Given the description of an element on the screen output the (x, y) to click on. 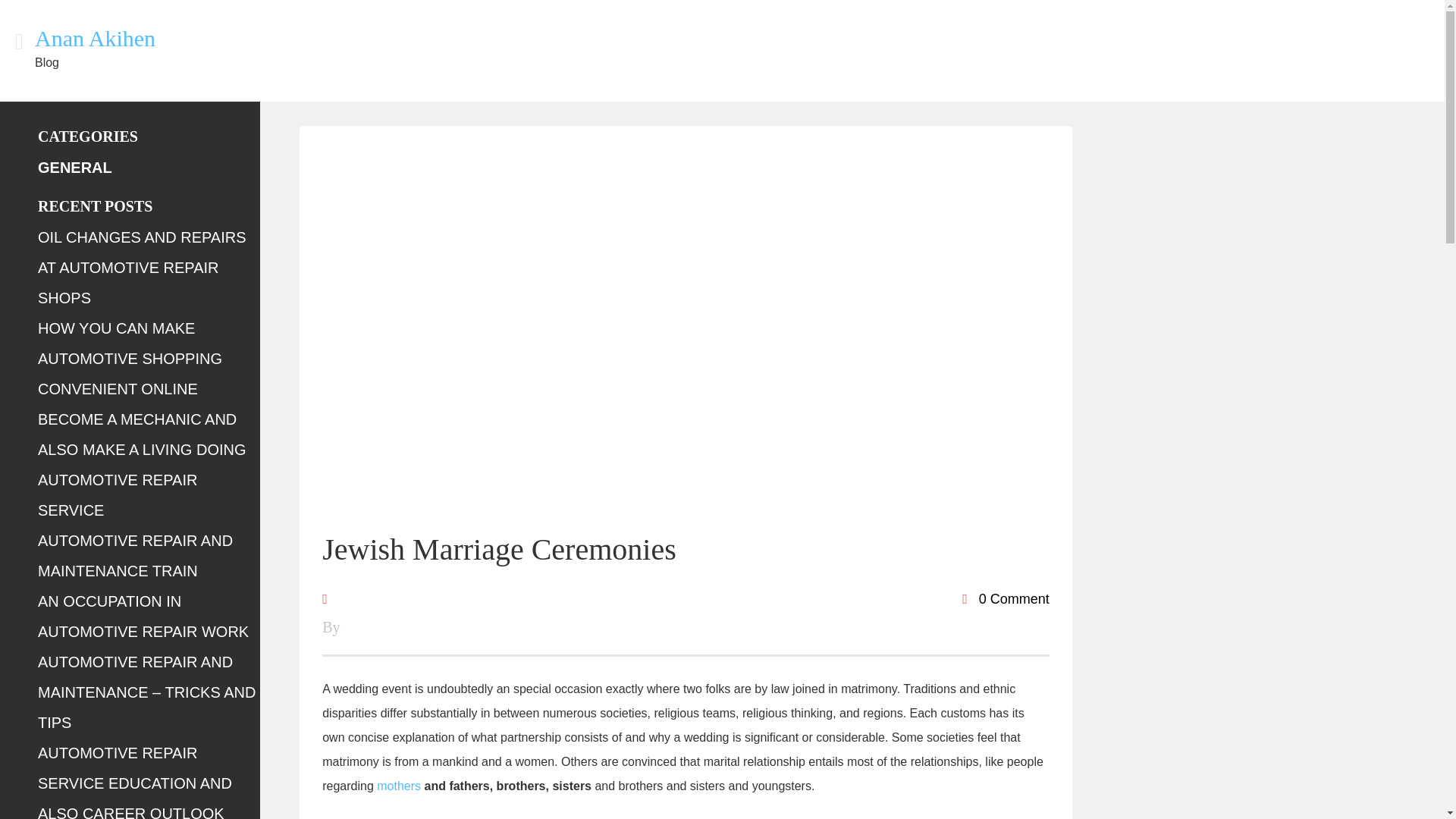
AUTOMOTIVE REPAIR AND MAINTENANCE TRAIN (134, 555)
OIL CHANGES AND REPAIRS AT AUTOMOTIVE REPAIR SHOPS (141, 267)
mothers (398, 785)
HOW YOU CAN MAKE AUTOMOTIVE SHOPPING CONVENIENT ONLINE (129, 358)
Anan Akihen (94, 37)
AUTOMOTIVE REPAIR SERVICE EDUCATION AND ALSO CAREER OUTLOOK (134, 781)
0 Comment (1005, 598)
AN OCCUPATION IN AUTOMOTIVE REPAIR WORK (142, 615)
GENERAL (74, 167)
